Given the description of an element on the screen output the (x, y) to click on. 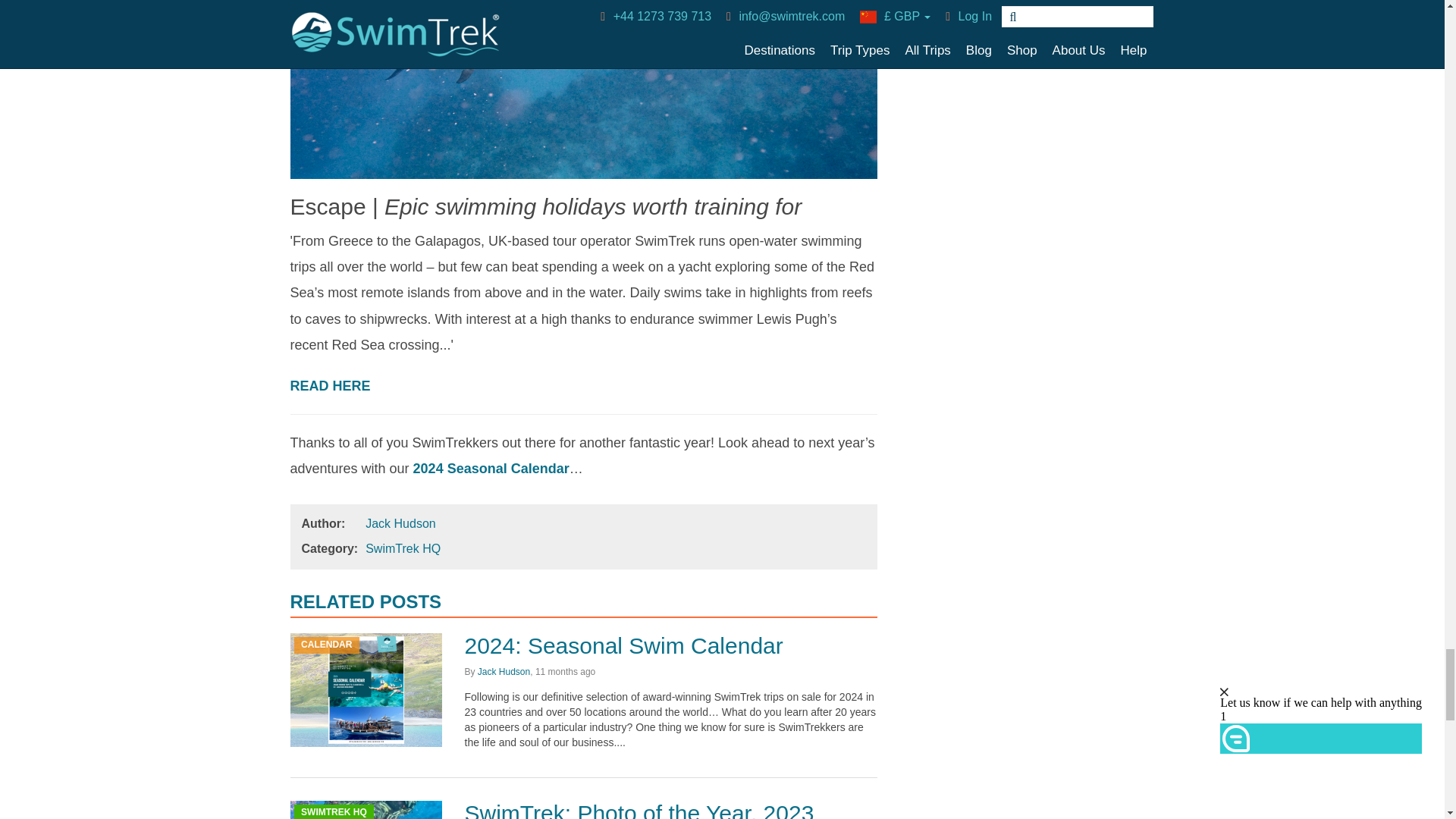
04 September, 2023 00:07 (556, 671)
